Given the description of an element on the screen output the (x, y) to click on. 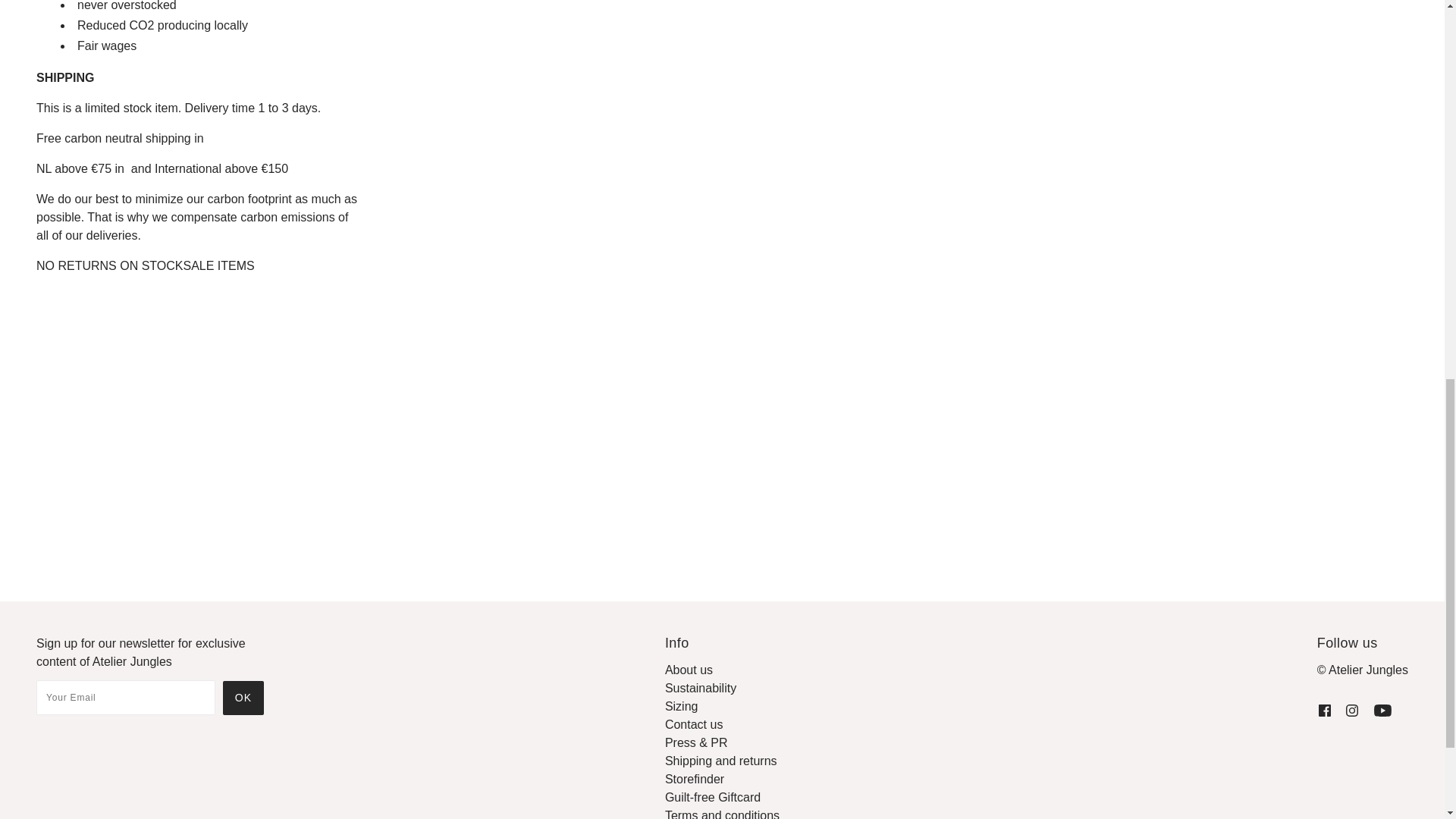
Guilt-free Giftcard (712, 797)
About us (689, 669)
Ok (242, 697)
Storefinder (694, 779)
Sustainability (700, 687)
Shipping and returns (721, 760)
Sizing (681, 706)
Terms and conditions (721, 814)
Contact us (693, 724)
